Given the description of an element on the screen output the (x, y) to click on. 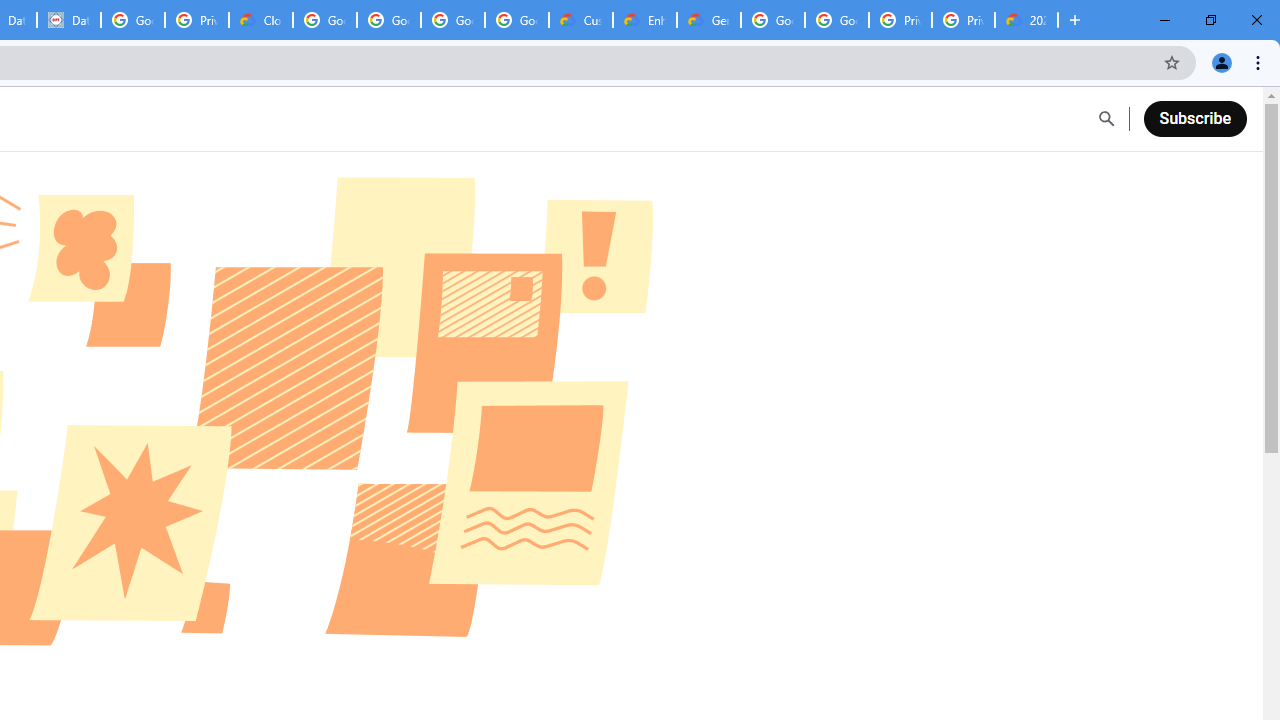
Google Cloud Platform (837, 20)
Google Workspace - Specific Terms (517, 20)
Data Privacy Framework (69, 20)
Enhanced Support | Google Cloud (645, 20)
Open Search (1106, 119)
Google Cloud Platform (773, 20)
Google Workspace - Specific Terms (453, 20)
